Given the description of an element on the screen output the (x, y) to click on. 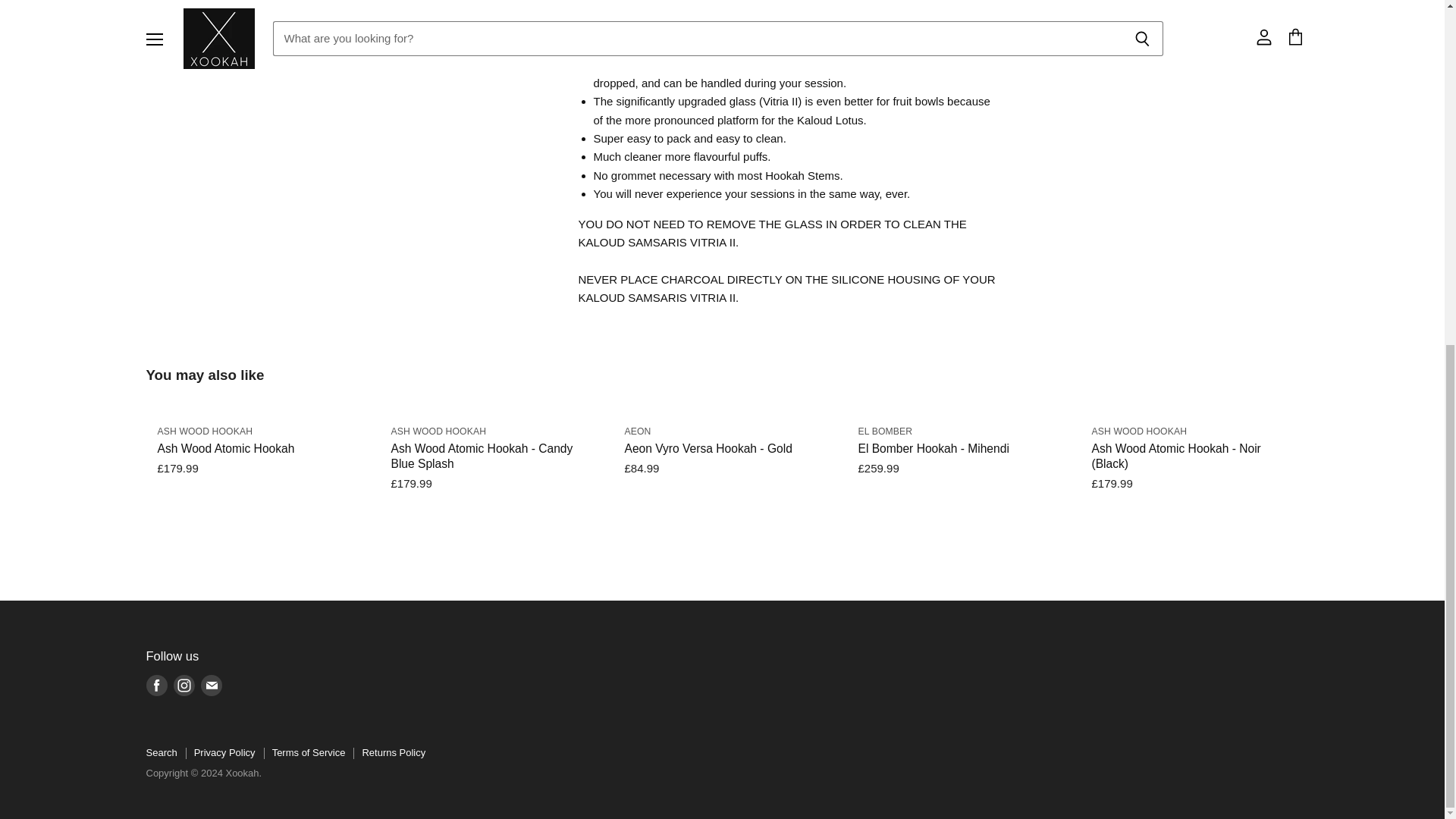
Instagram (183, 685)
E-mail (210, 685)
Facebook (156, 685)
